Given the description of an element on the screen output the (x, y) to click on. 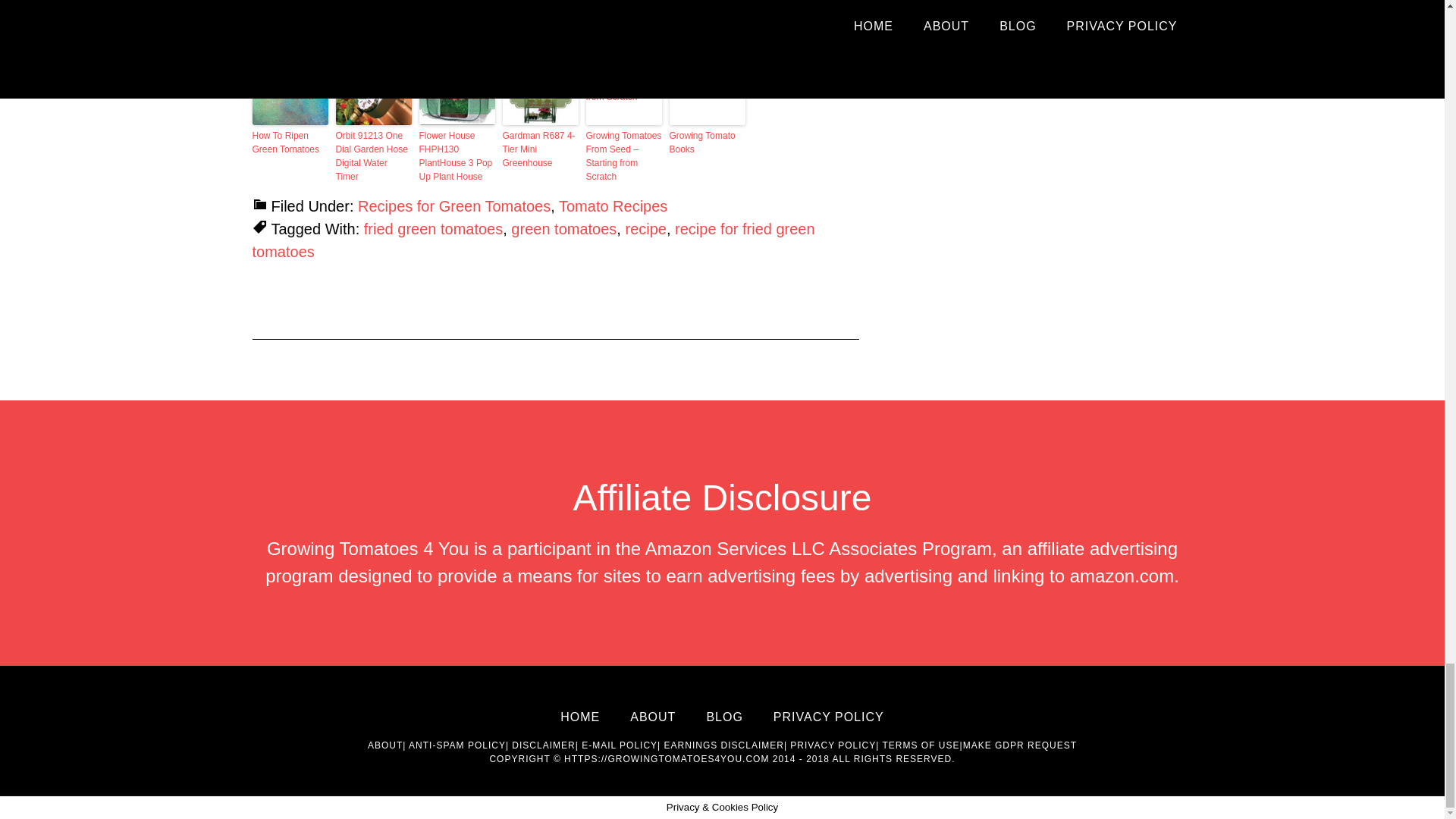
Flower House FHPH130 PlantHouse 3 Pop Up Plant House (457, 155)
How To Ripen Green Tomatoes (289, 142)
Gardman R687 4-Tier Mini Greenhouse (540, 148)
Growing Tomato Books (706, 142)
Orbit 91213 One Dial Garden Hose Digital Water Timer (372, 155)
